Given the description of an element on the screen output the (x, y) to click on. 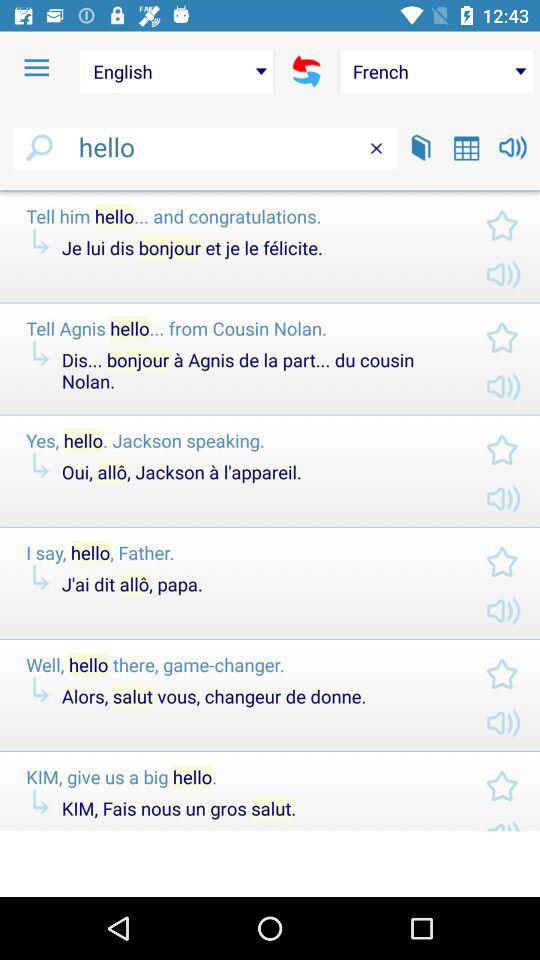
turn on the icon above hello (436, 71)
